Given the description of an element on the screen output the (x, y) to click on. 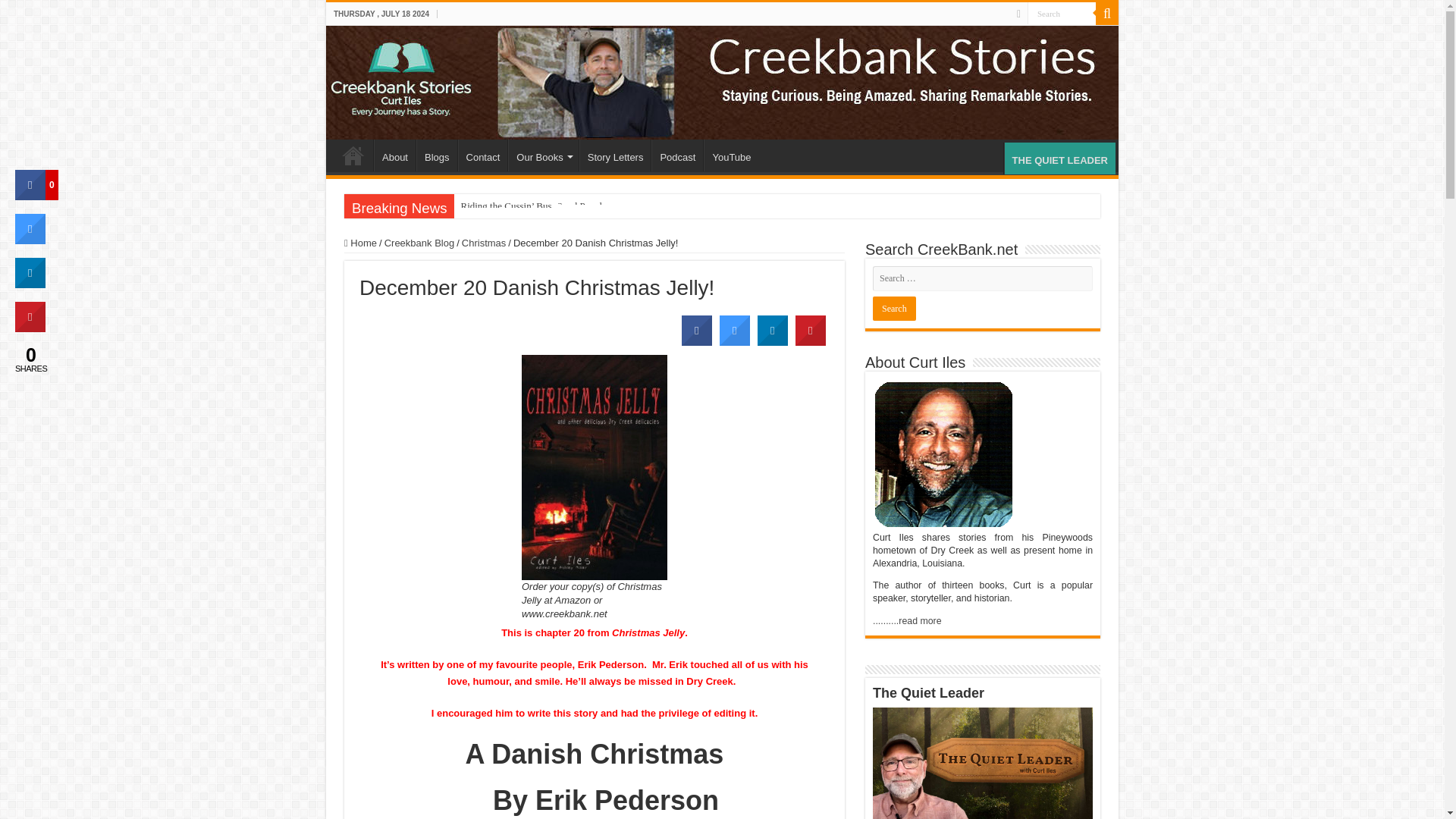
Our Books (543, 155)
Search (1061, 13)
Contact (483, 155)
Search (893, 308)
Creekbank Stories (722, 82)
Search (893, 308)
About (394, 155)
Search (1061, 13)
Search (1061, 13)
Home (352, 155)
Blogs (436, 155)
Surround Yourself with Good People (532, 206)
Search (1107, 13)
